Given the description of an element on the screen output the (x, y) to click on. 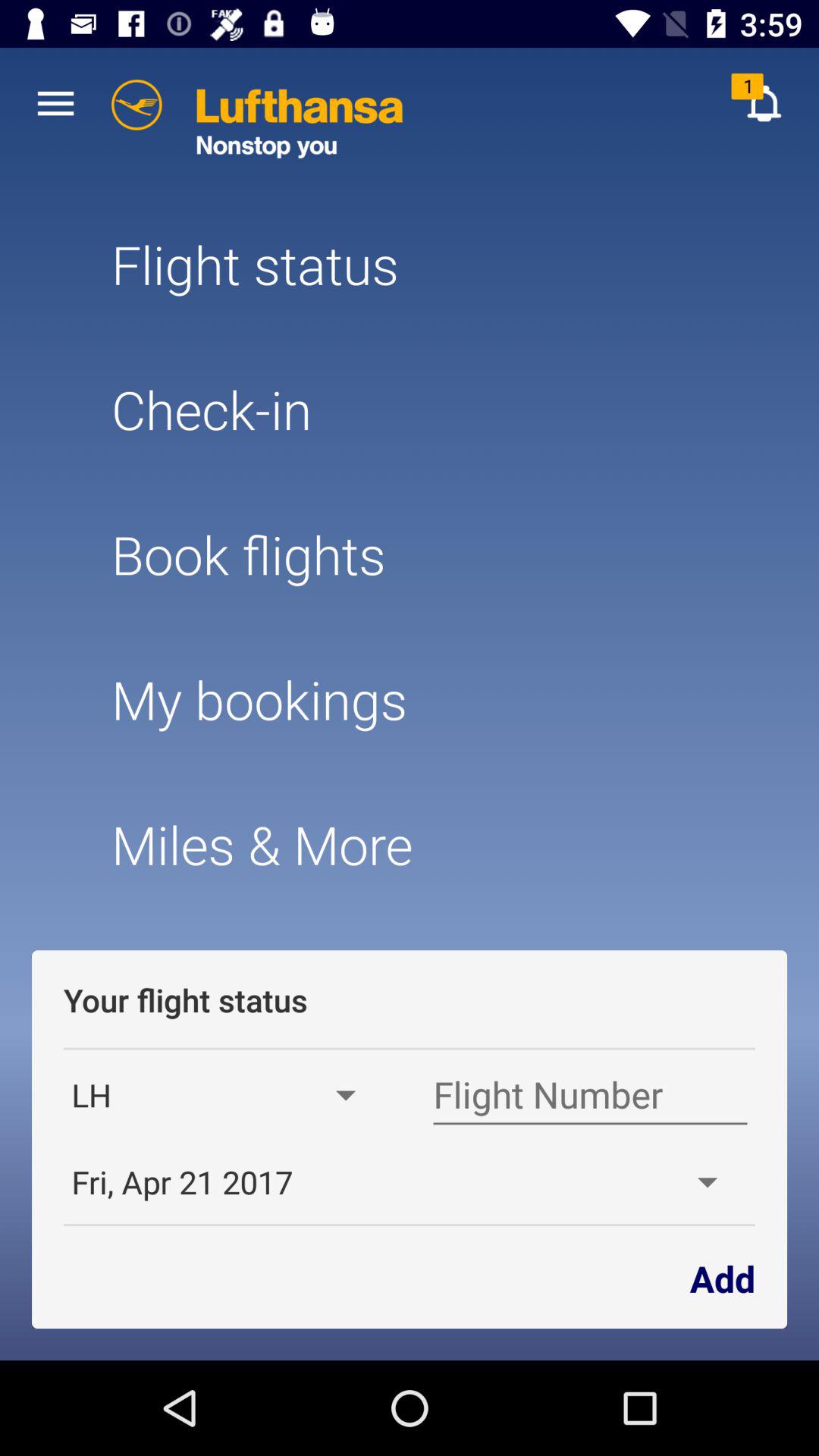
tap book flights (409, 554)
